Given the description of an element on the screen output the (x, y) to click on. 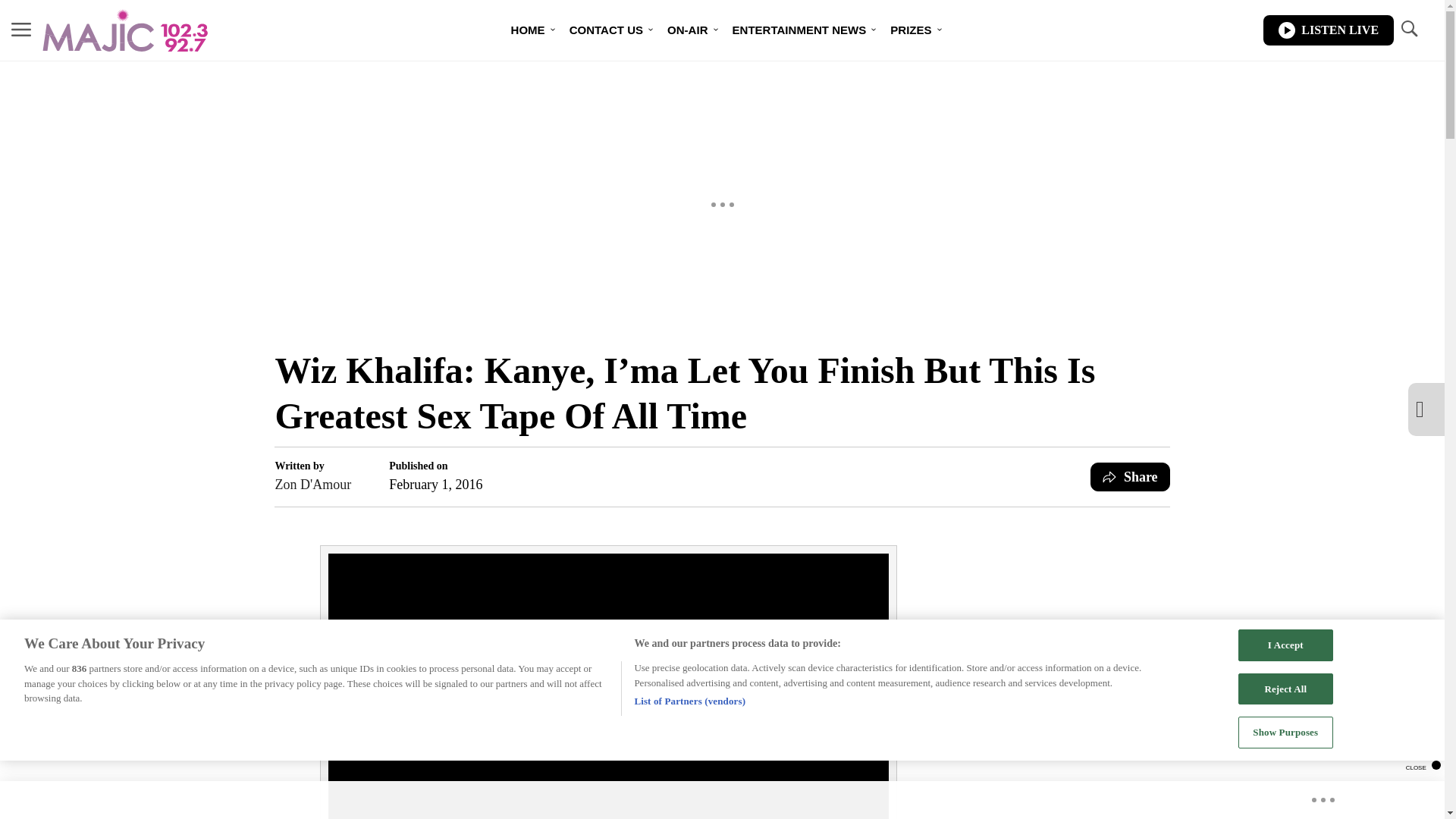
ON-AIR (687, 30)
LISTEN LIVE (1328, 30)
MENU (20, 29)
TOGGLE SEARCH (1408, 28)
CONTACT US (606, 30)
HOME (528, 30)
Zon D'Amour (312, 484)
MENU (20, 30)
ENTERTAINMENT NEWS (799, 30)
TOGGLE SEARCH (1408, 30)
Share (1130, 476)
PRIZES (910, 30)
